Given the description of an element on the screen output the (x, y) to click on. 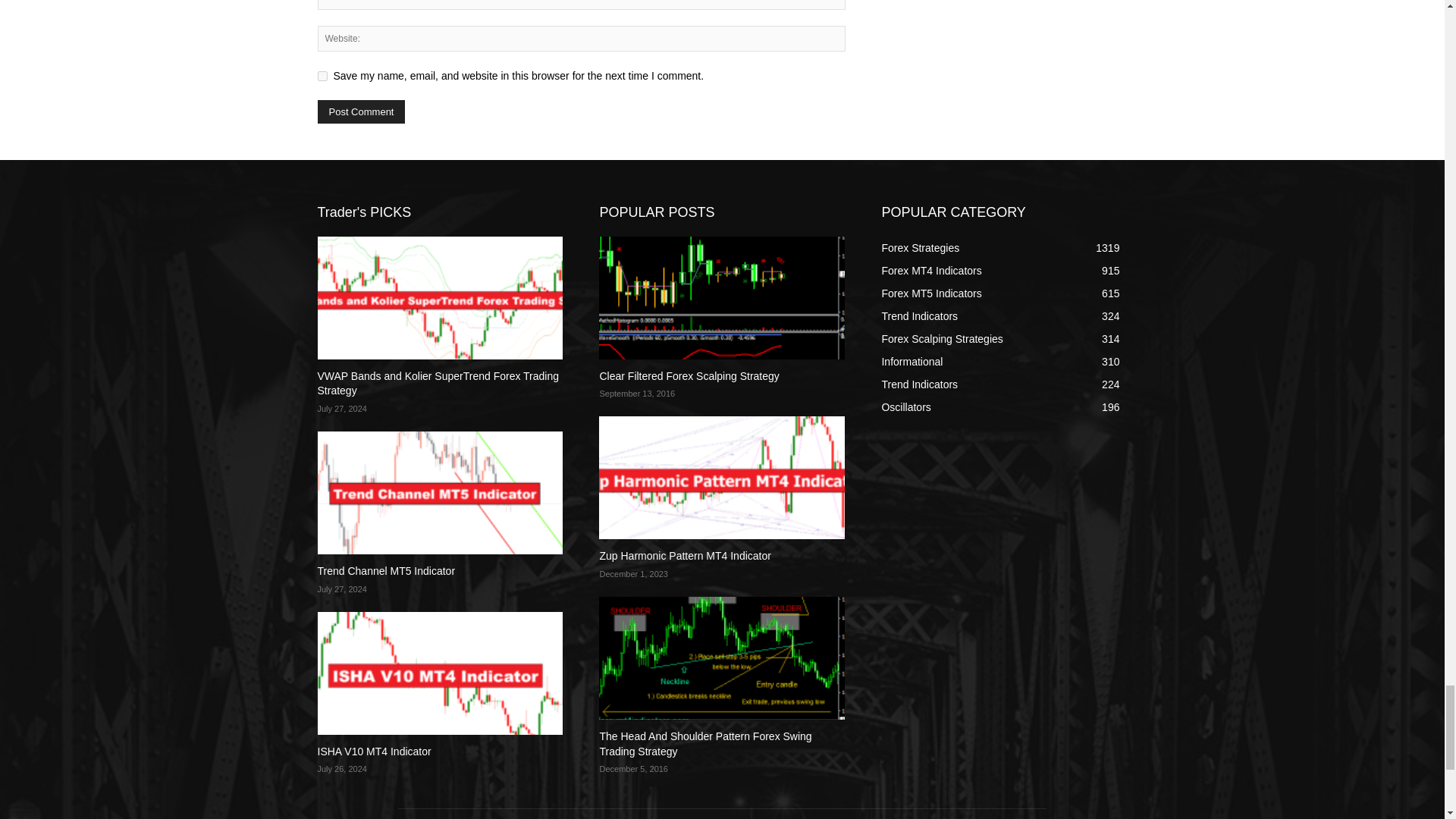
yes (321, 76)
Post Comment (360, 111)
